Given the description of an element on the screen output the (x, y) to click on. 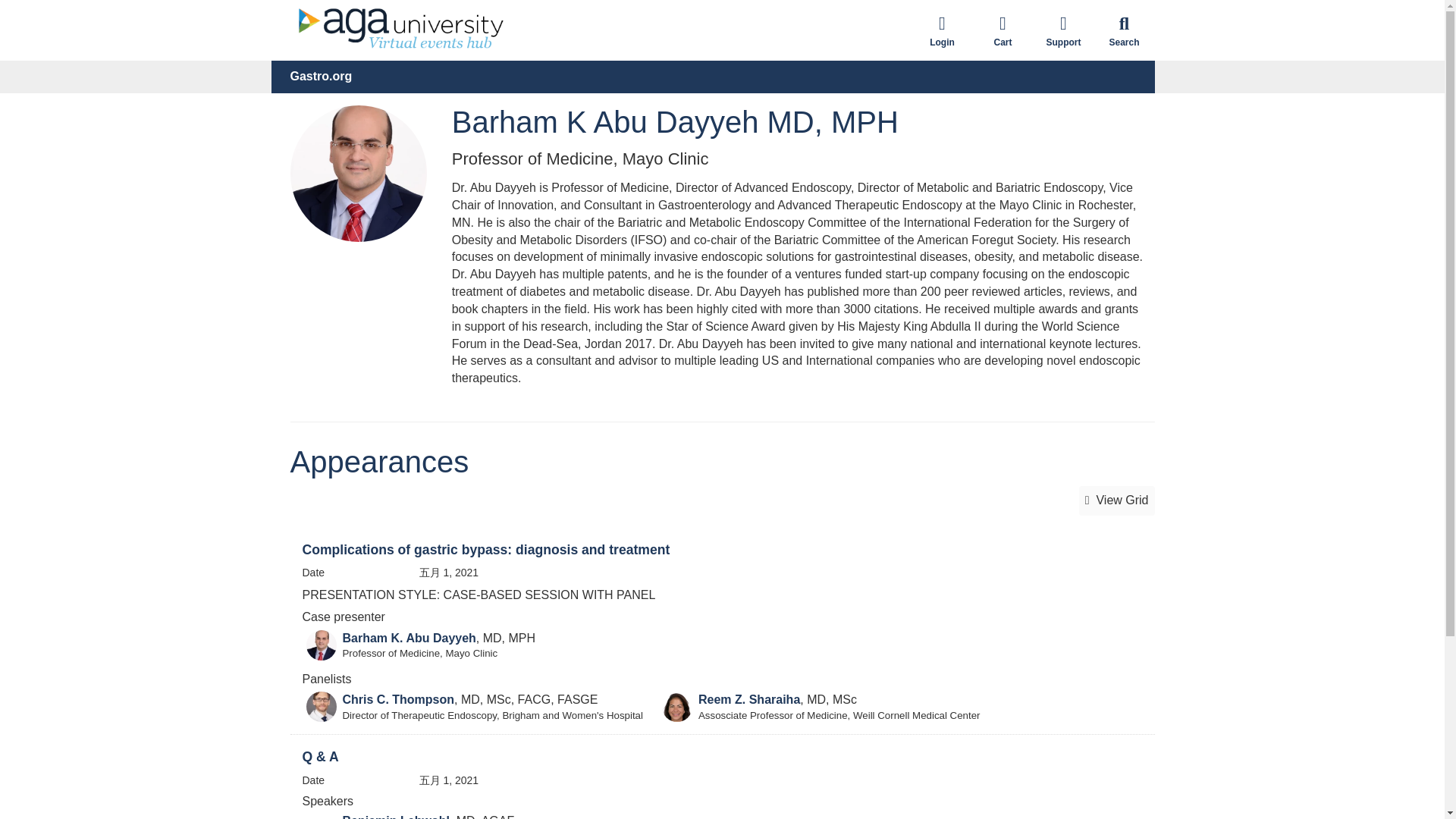
Login (941, 30)
Login (941, 30)
Chris C. Thompson (398, 698)
Gastro.org (320, 76)
Search (1123, 30)
Complications of gastric bypass: diagnosis and treatment (485, 549)
Benjamin Lebwohl (395, 816)
Search (1123, 30)
Cart (1002, 30)
Support (1062, 30)
